Given the description of an element on the screen output the (x, y) to click on. 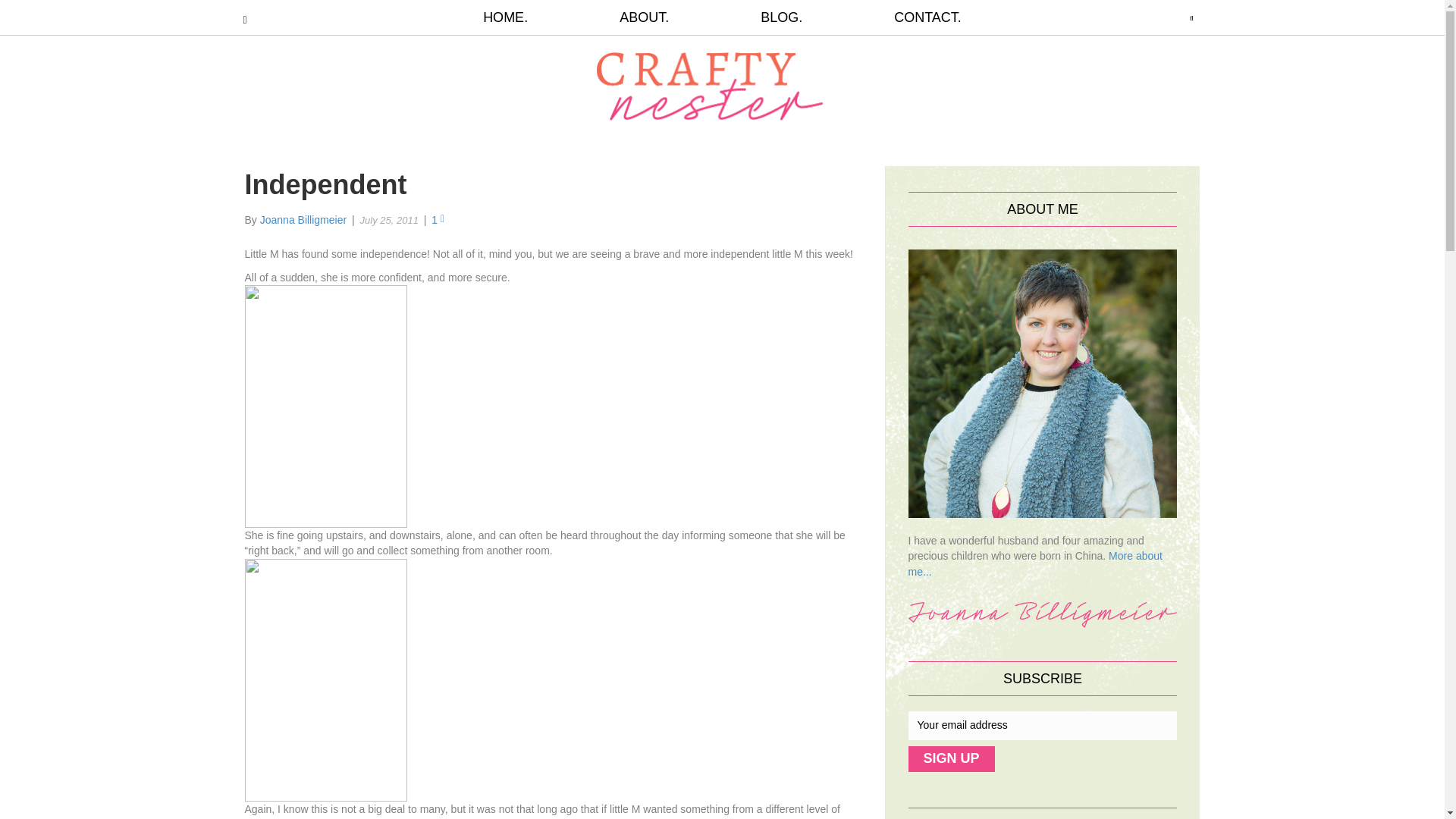
Sign up (951, 759)
Joanna Billigmeier (303, 219)
More about me... (1034, 563)
1 (437, 219)
Sign up (951, 759)
CONTACT. (904, 17)
BLOG. (780, 17)
ABOUT. (643, 17)
Joanna Headshot (1042, 383)
HOME. (528, 17)
